Given the description of an element on the screen output the (x, y) to click on. 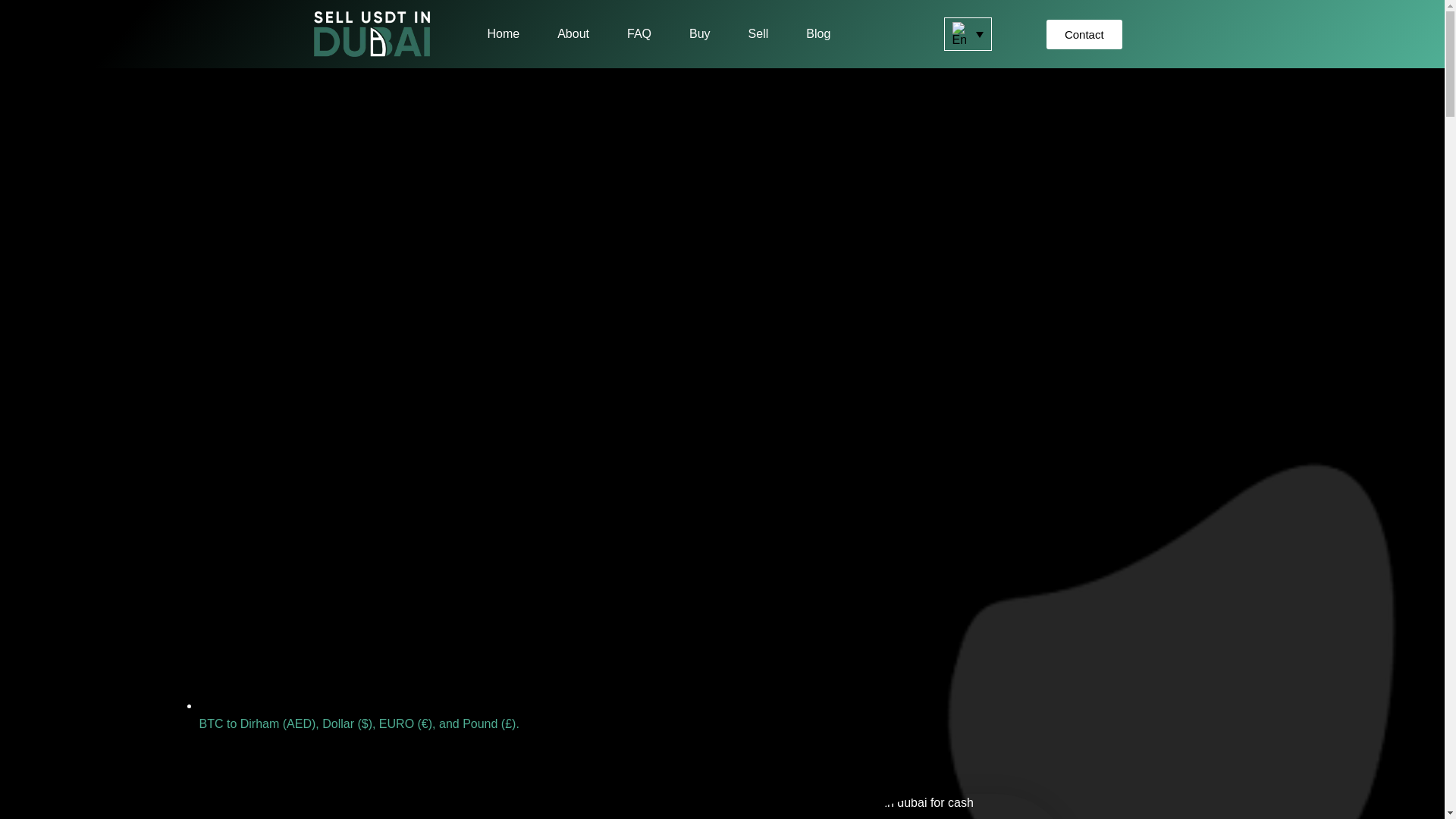
Sell (758, 33)
Blog (817, 33)
Contact (1084, 34)
Home (502, 33)
Sell Btc In Dubai For Cash (900, 806)
FAQ (638, 33)
Buy (699, 33)
About (573, 33)
